Given the description of an element on the screen output the (x, y) to click on. 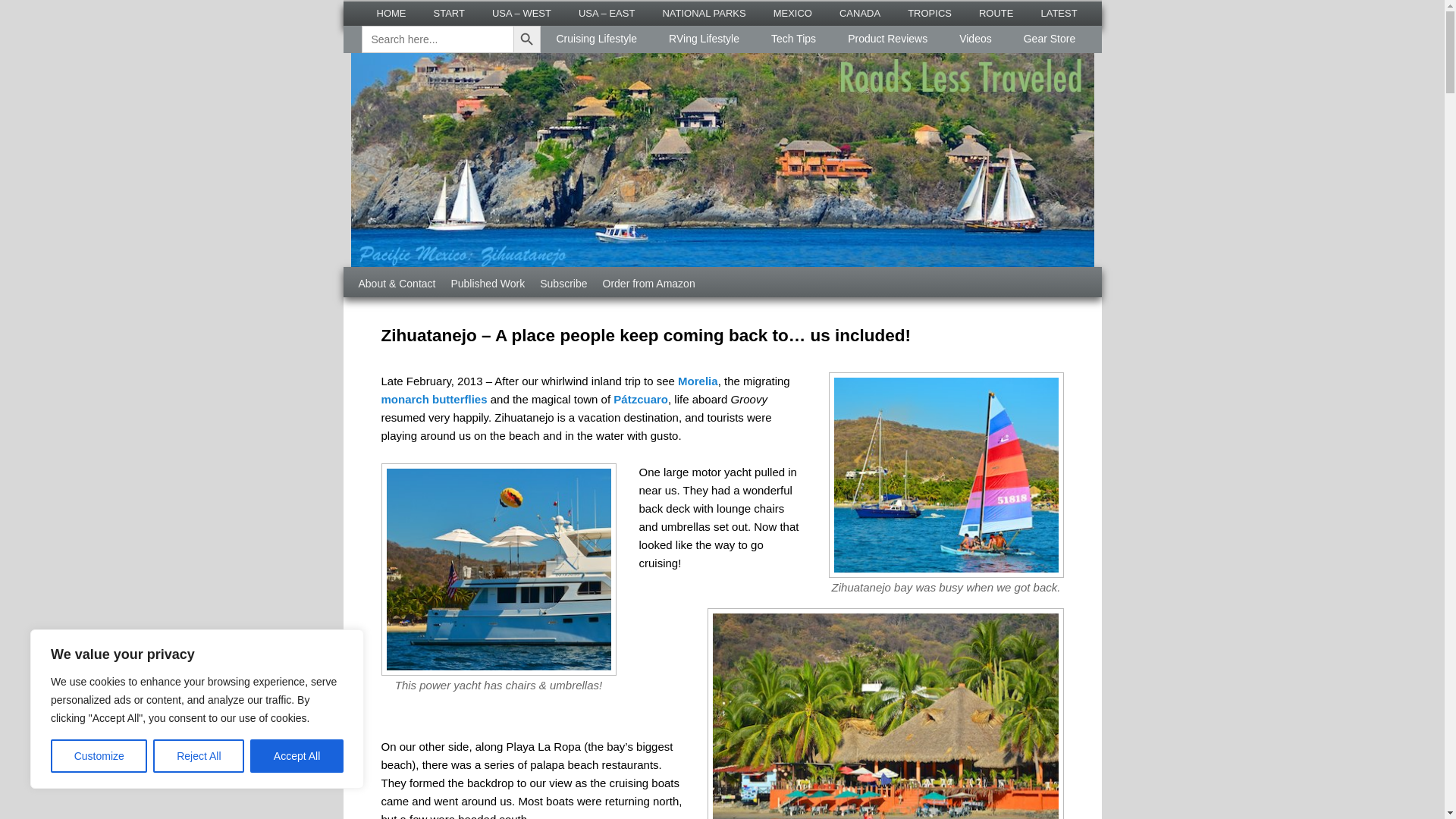
Reject All (198, 756)
HOME (390, 13)
Customize (98, 756)
Home page. (390, 13)
Accept All (296, 756)
Starting Points on this Website! (449, 13)
RV travel in the Western USA (521, 13)
START (449, 13)
